Given the description of an element on the screen output the (x, y) to click on. 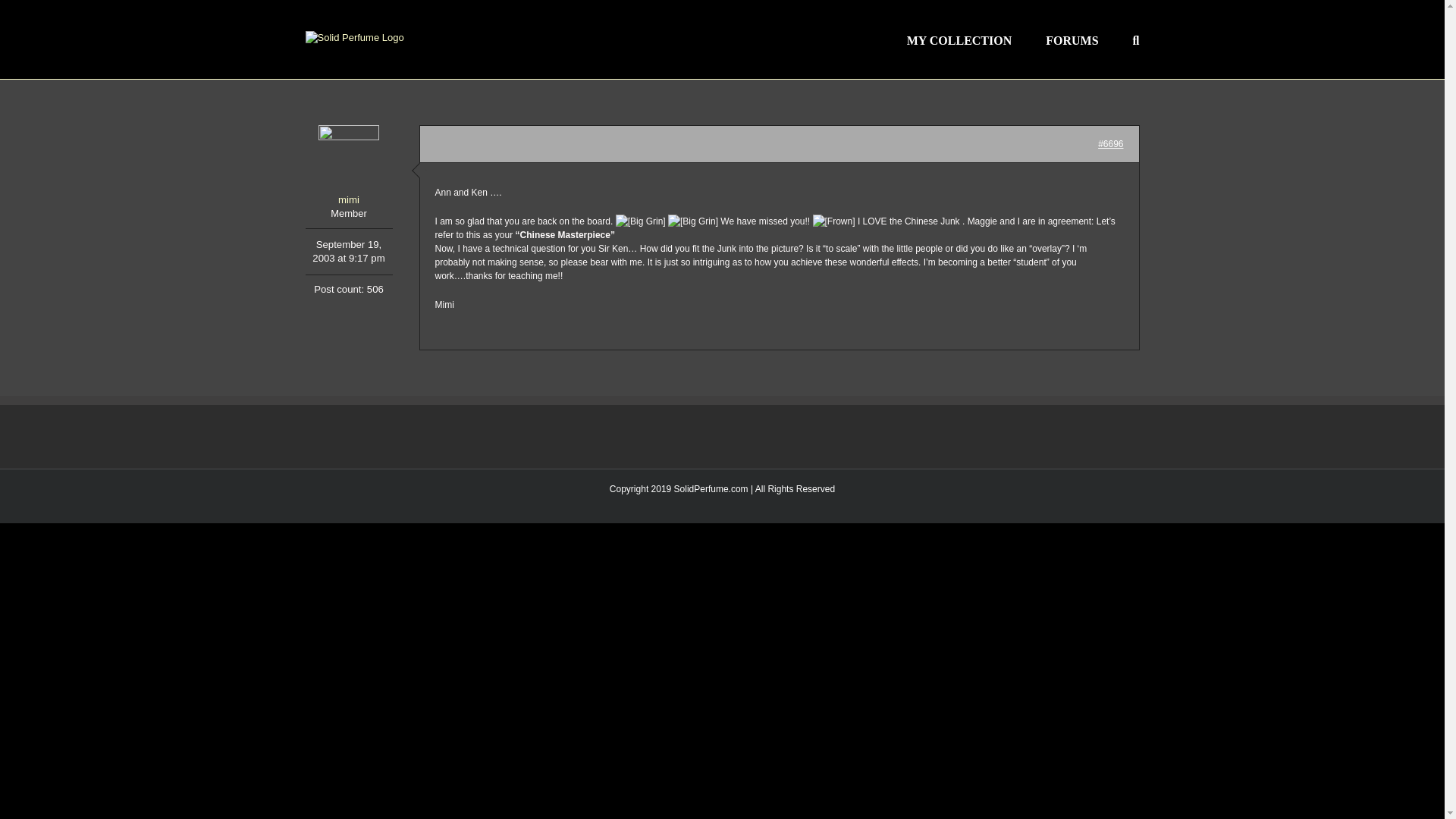
mimi (347, 166)
MY COLLECTION (959, 39)
View mimi's profile (347, 166)
